Given the description of an element on the screen output the (x, y) to click on. 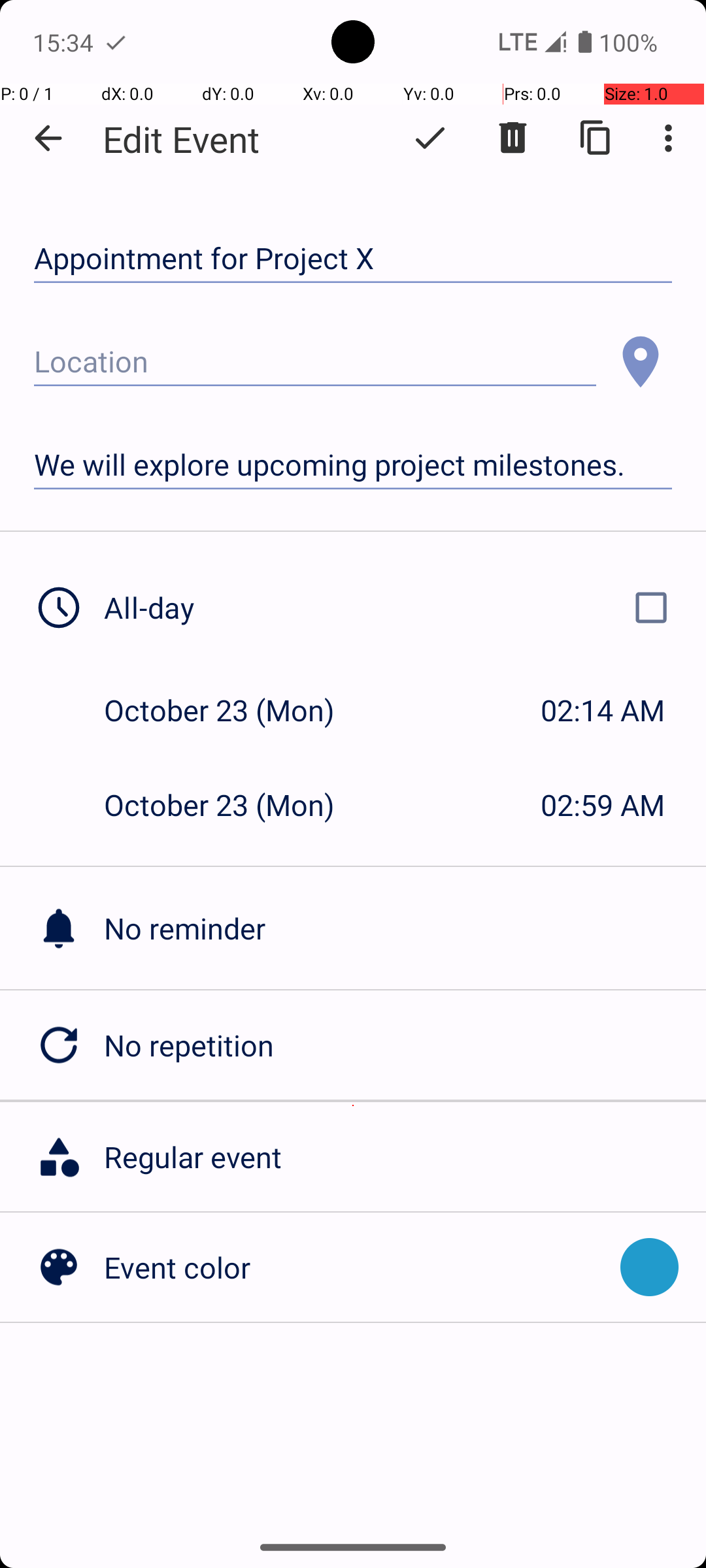
We will explore upcoming project milestones. Element type: android.widget.EditText (352, 465)
October 23 (Mon) Element type: android.widget.TextView (232, 709)
02:14 AM Element type: android.widget.TextView (602, 709)
02:59 AM Element type: android.widget.TextView (602, 804)
